Given the description of an element on the screen output the (x, y) to click on. 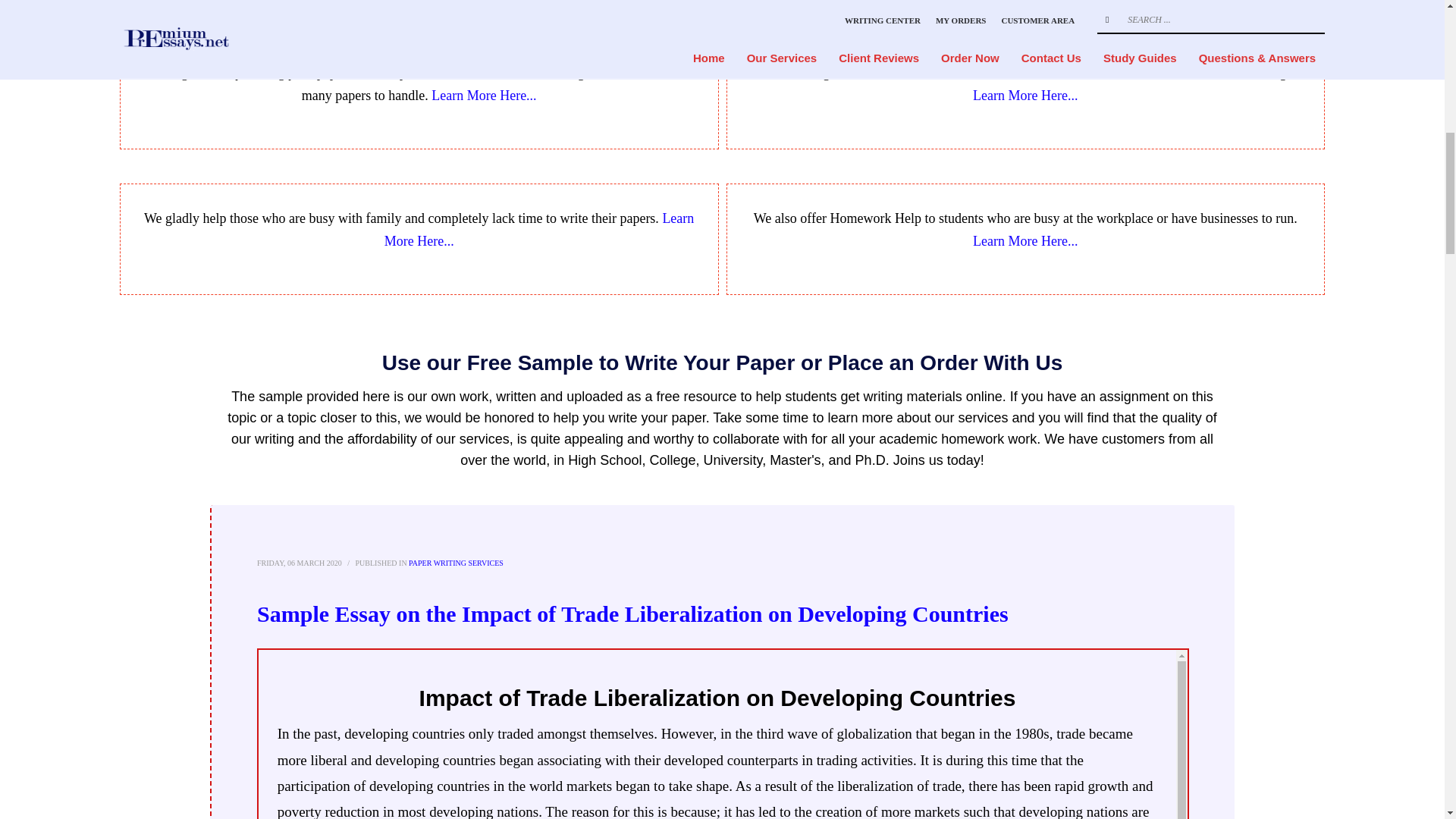
Learn More Here... (539, 229)
Learn More Here... (1024, 95)
Learn More Here... (482, 95)
Learn More Here... (1024, 240)
PAPER WRITING SERVICES (456, 562)
